Given the description of an element on the screen output the (x, y) to click on. 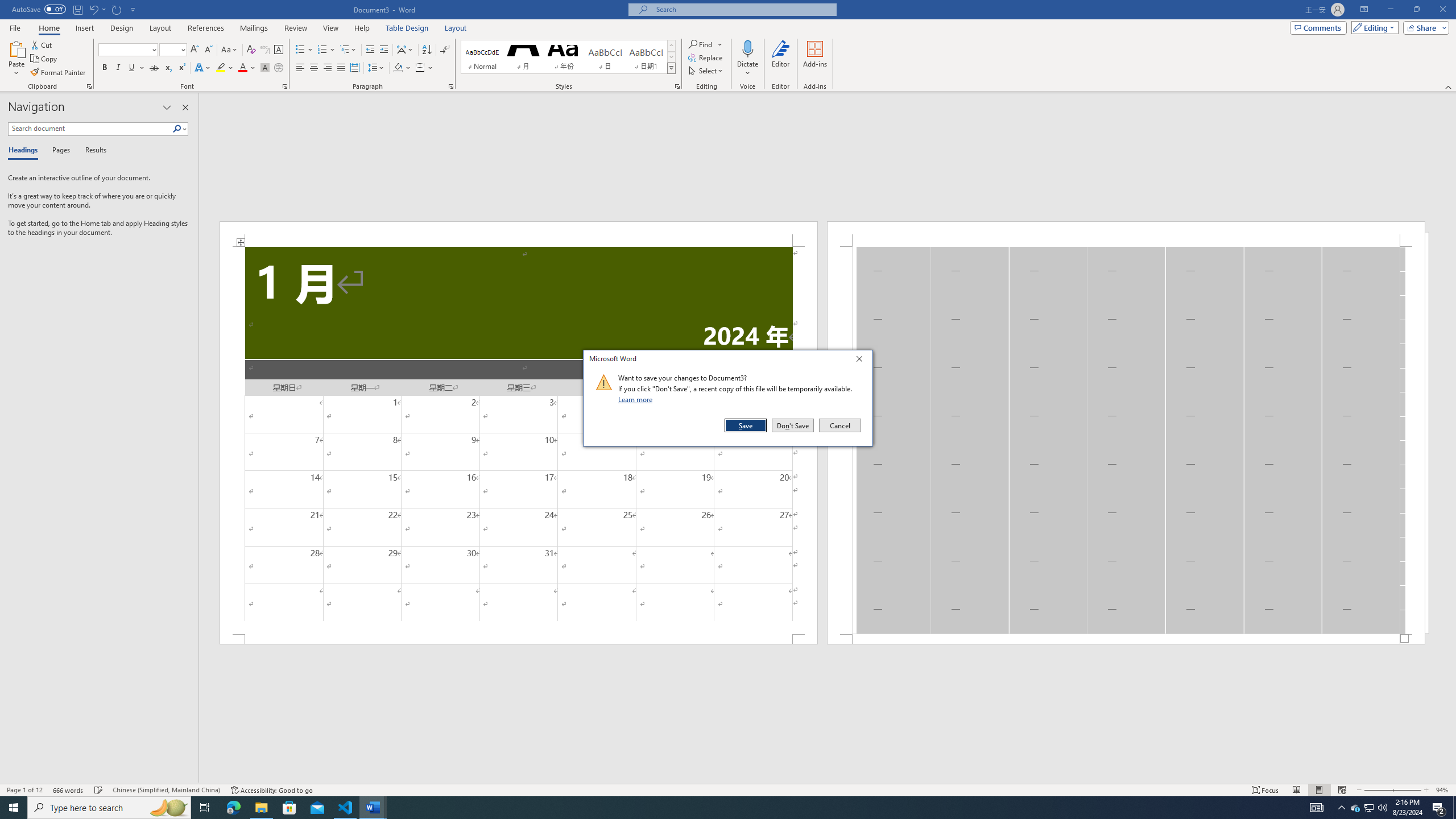
Font Color RGB(255, 0, 0) (241, 67)
Don't Save (792, 425)
